Given the description of an element on the screen output the (x, y) to click on. 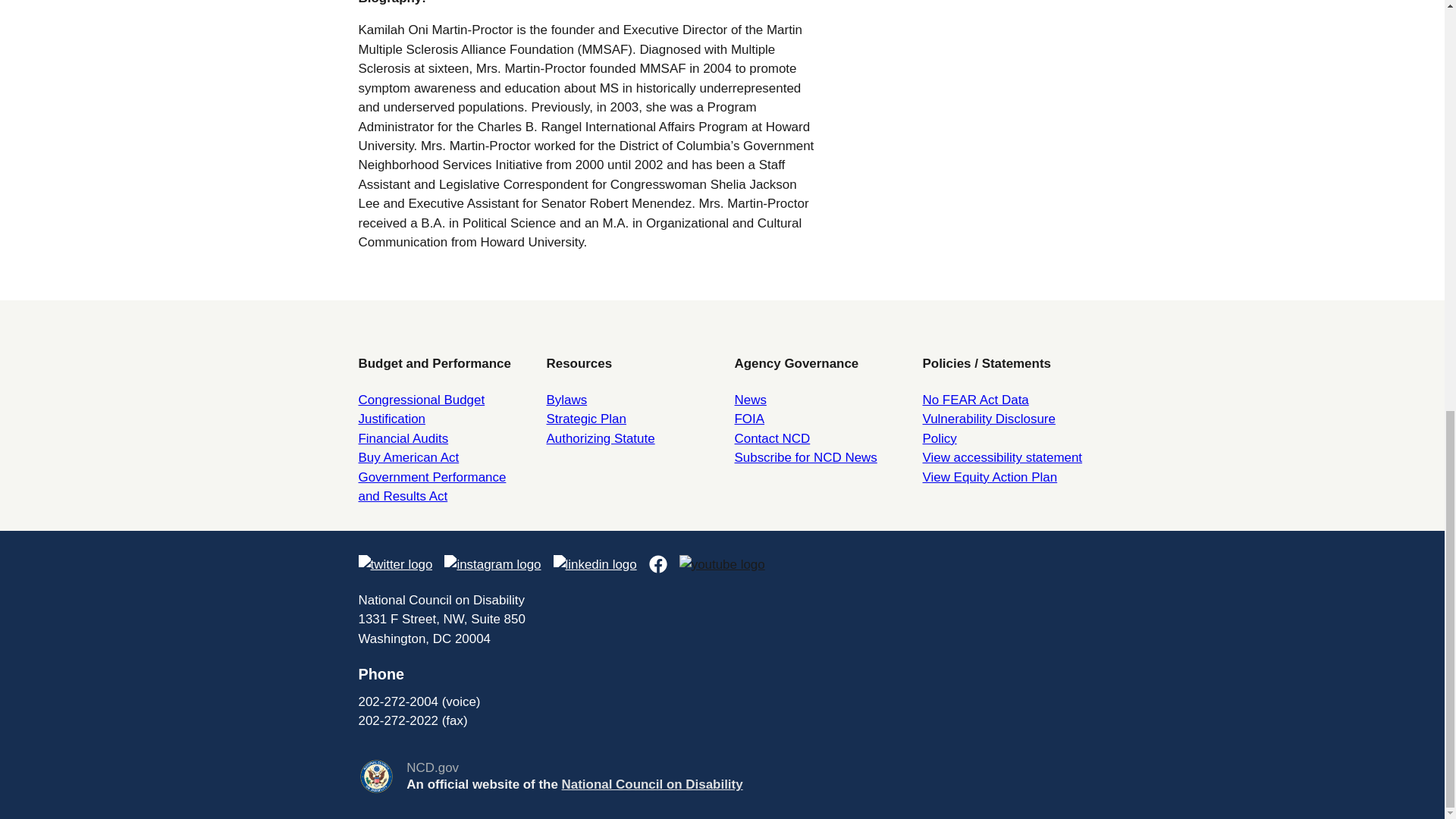
View Equity Action Plan (989, 477)
Government Performance and Results Act (431, 486)
Bylaws (566, 400)
Congressional Budget Justification (421, 409)
Strategic Plan (586, 418)
News (749, 400)
View accessibility statement (1001, 457)
Vulnerability Disclosure Policy (987, 428)
FOIA (748, 418)
No FEAR Act Data (974, 400)
Contact NCD (771, 438)
Subscribe for NCD News (804, 457)
Financial Audits (403, 438)
Authorizing Statute (599, 438)
Buy American Act (408, 457)
